Given the description of an element on the screen output the (x, y) to click on. 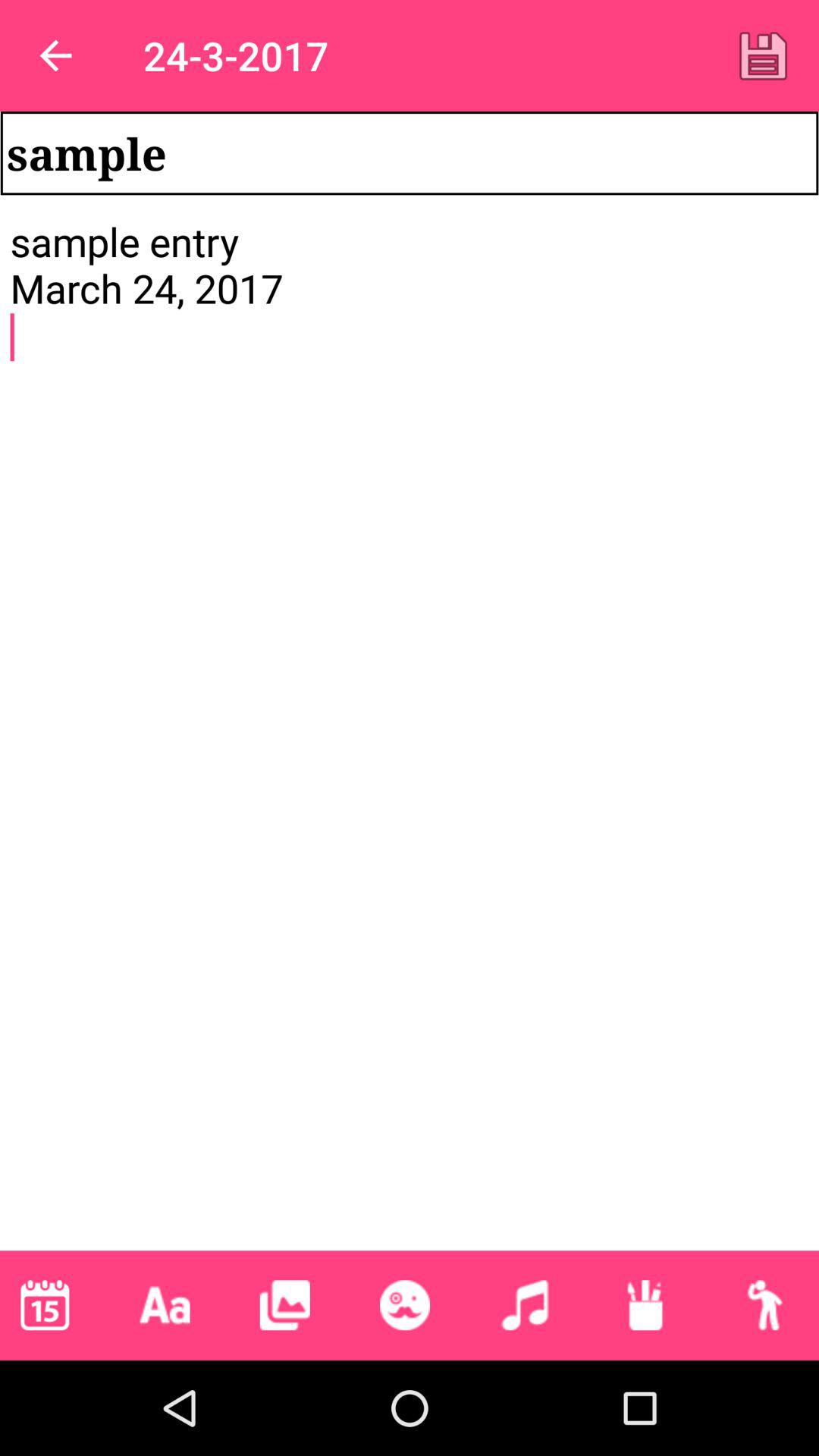
add photos (284, 1305)
